Given the description of an element on the screen output the (x, y) to click on. 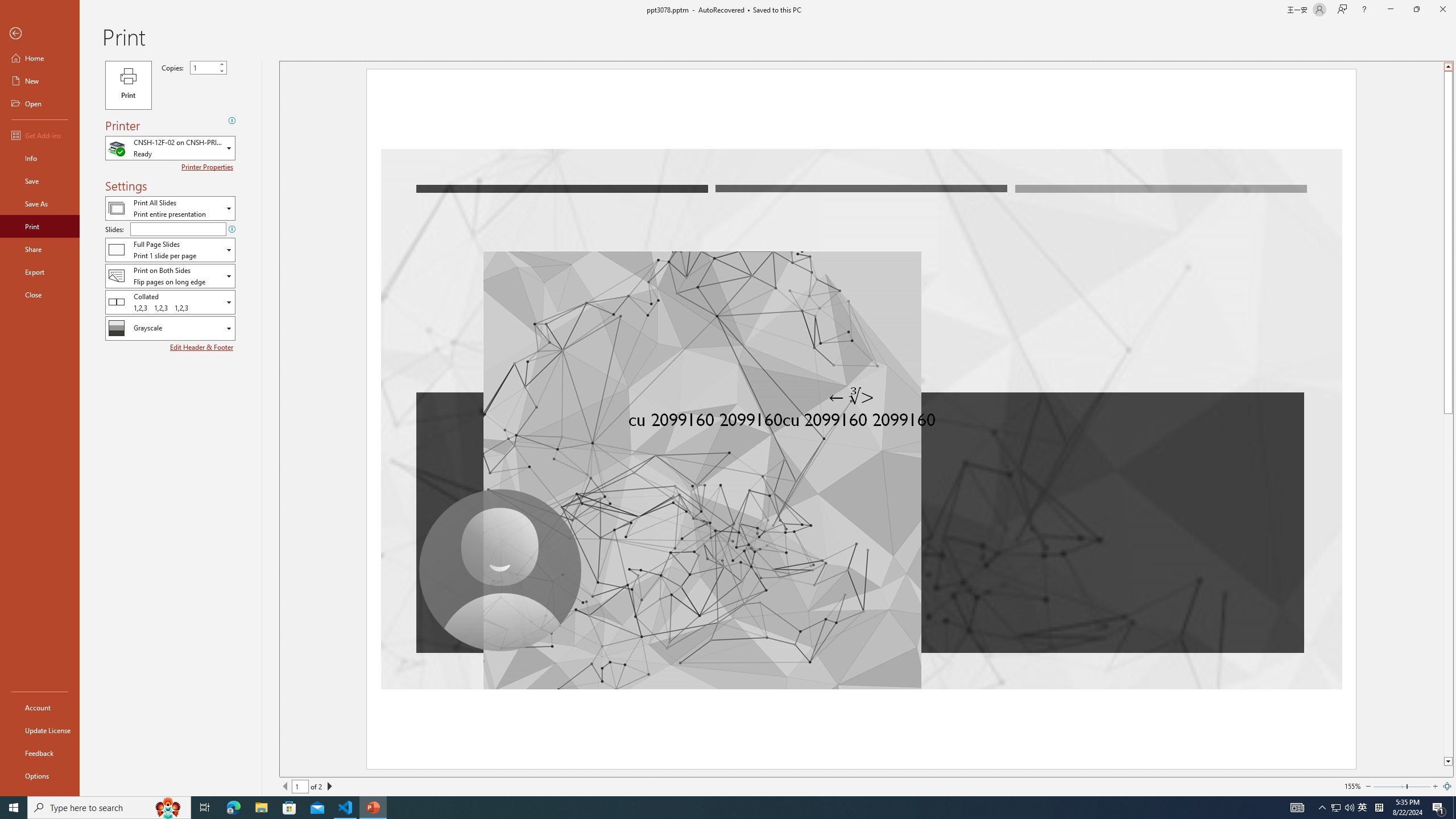
Collation (169, 301)
Less (220, 70)
Printer Properties (208, 166)
Account (40, 707)
Which Printer (169, 147)
Get Add-ins (40, 134)
Print (127, 84)
Zoom to Page (1447, 786)
Class: NetUIScrollBar (1447, 413)
